Given the description of an element on the screen output the (x, y) to click on. 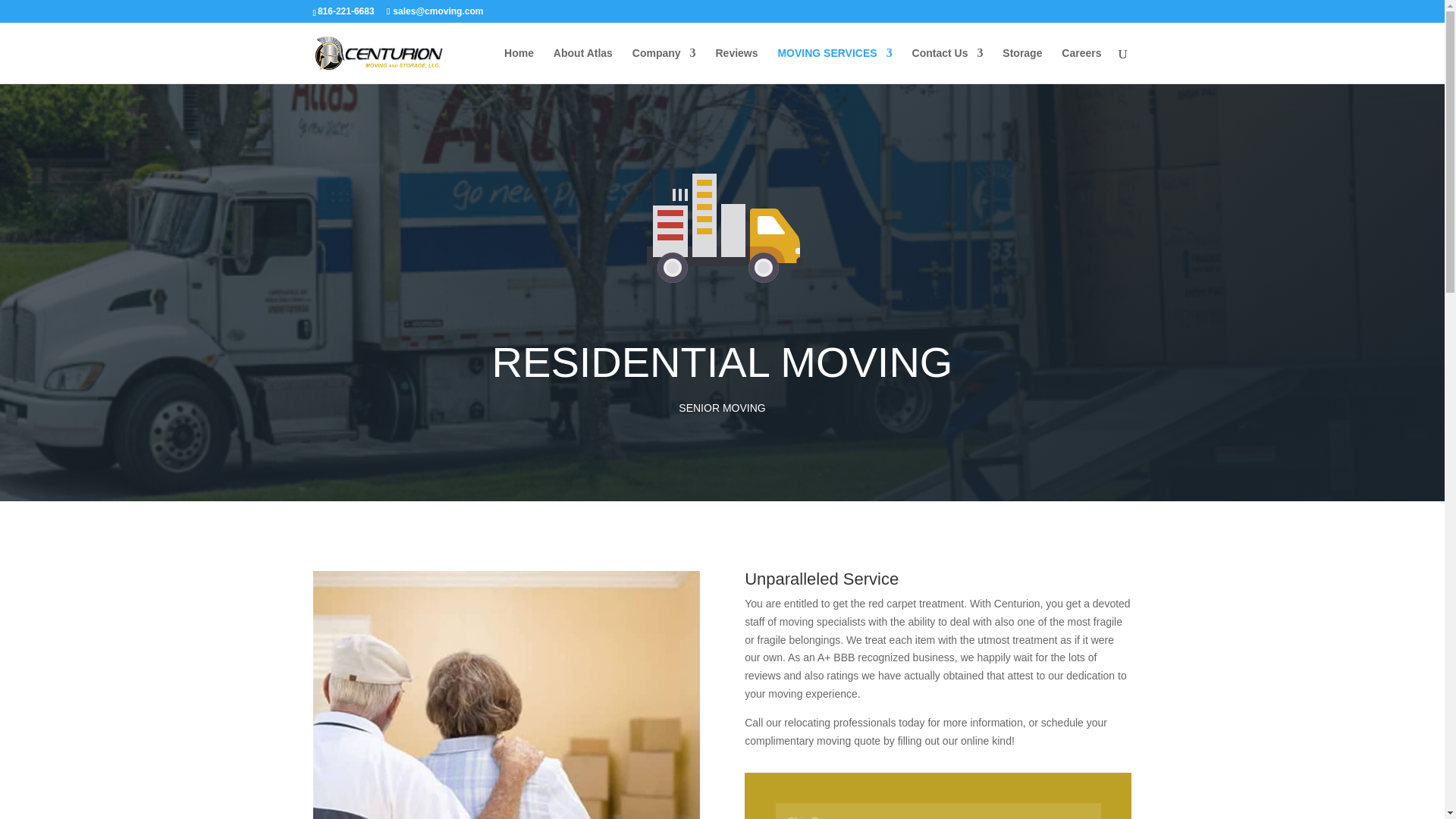
Careers (1080, 65)
About Atlas (582, 65)
Contact Us (948, 65)
Reviews (735, 65)
Storage (1022, 65)
Company (663, 65)
MOVING SERVICES (834, 65)
storage and moving - Centurionmoving.com (721, 235)
